Given the description of an element on the screen output the (x, y) to click on. 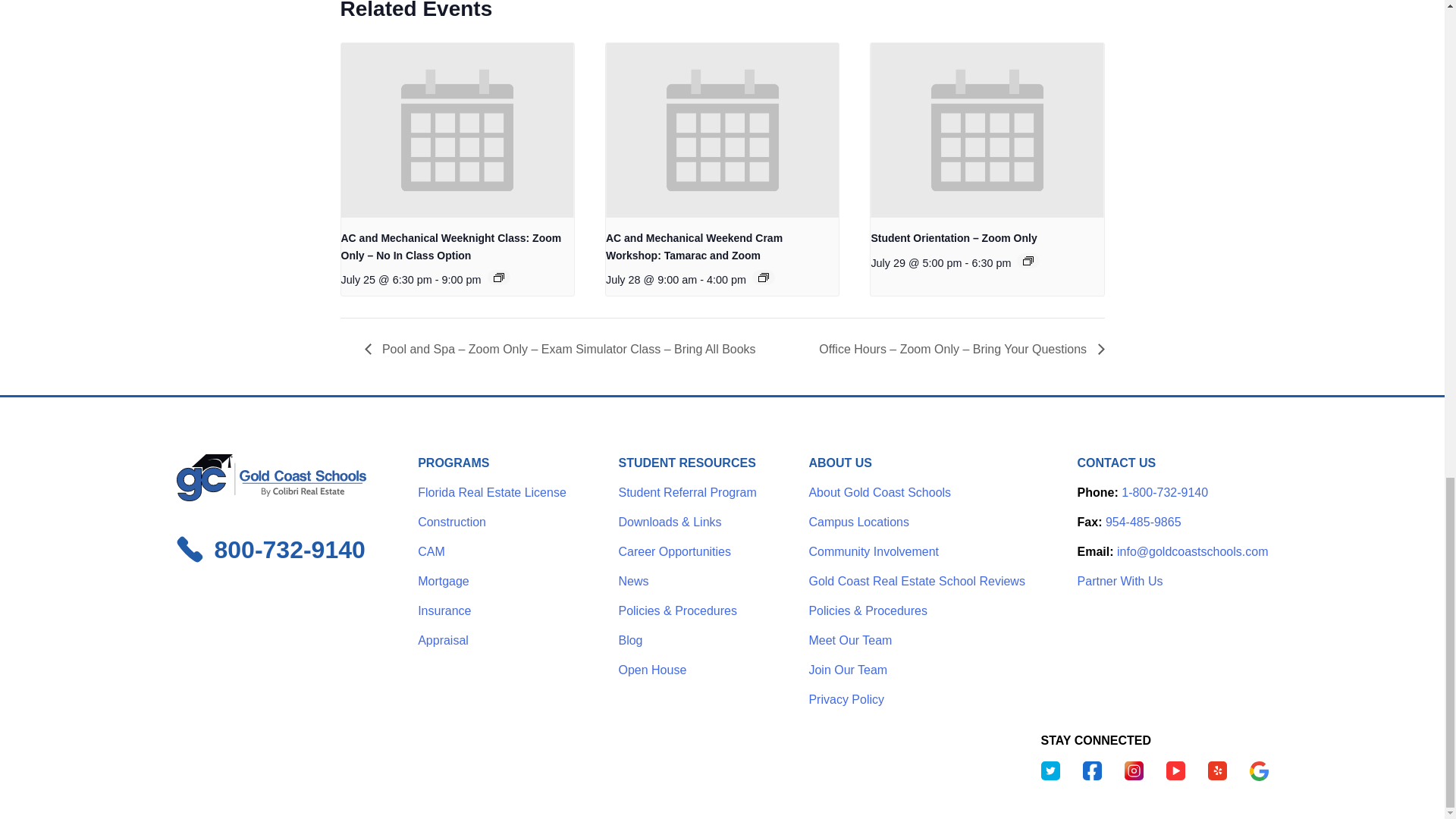
Event Series (1028, 260)
Event Series (763, 276)
Event Series (498, 276)
